Given the description of an element on the screen output the (x, y) to click on. 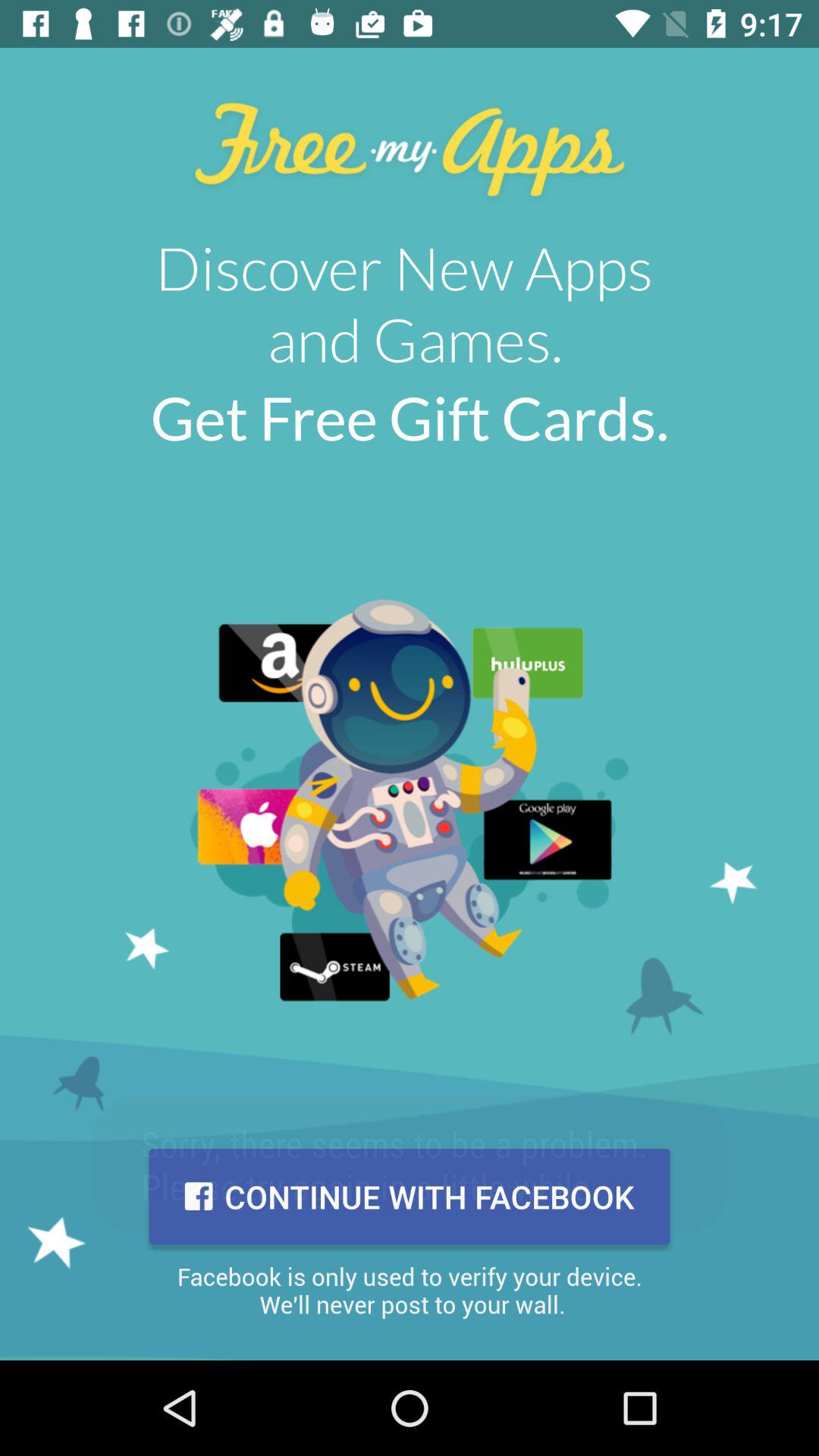
turn on the item above facebook is only item (409, 1196)
